Given the description of an element on the screen output the (x, y) to click on. 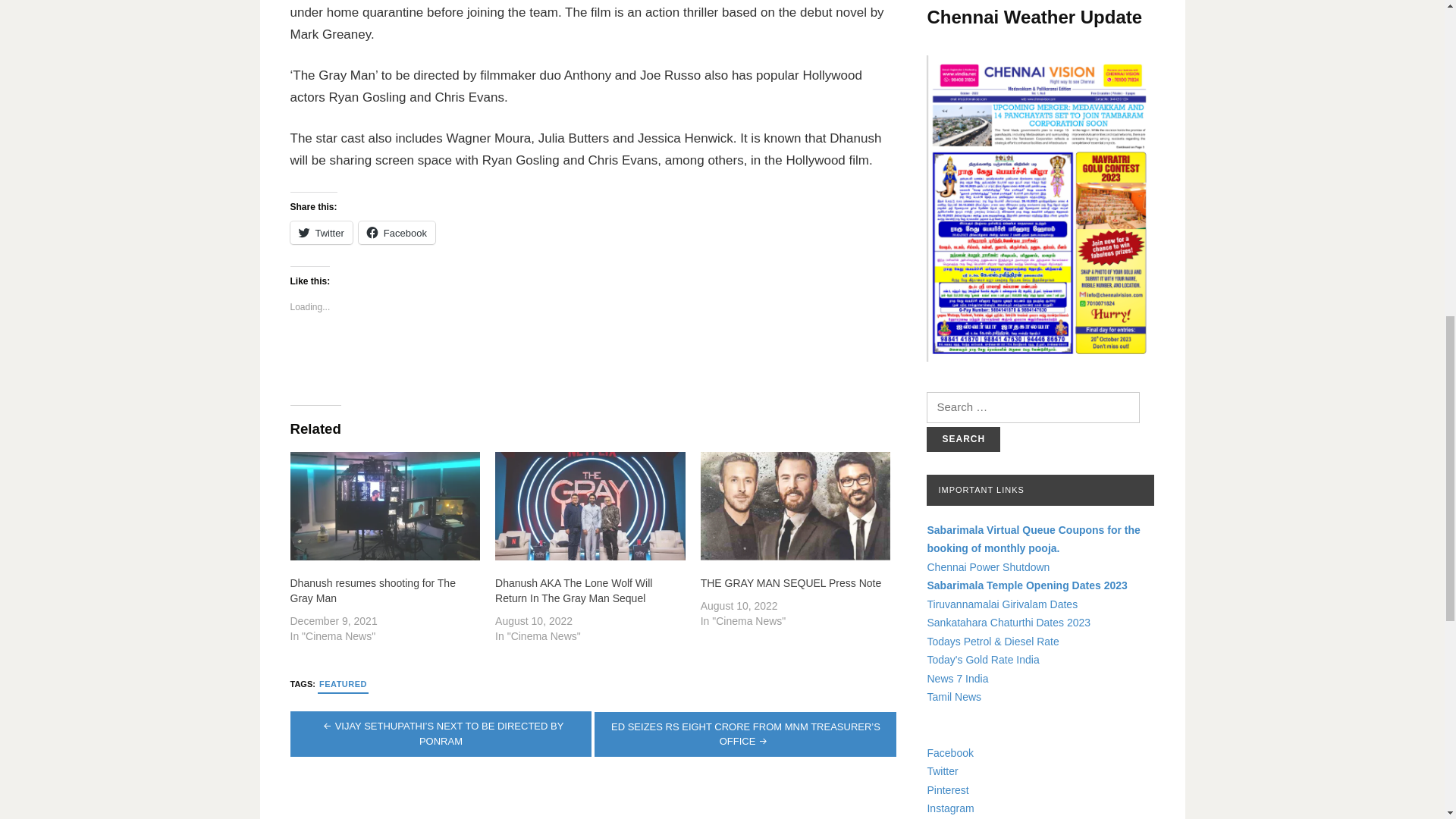
Dhanush resumes shooting for The Gray Man (384, 506)
Click to share on Twitter (320, 232)
Chennaivision Epaper (1040, 208)
Dhanush AKA The Lone Wolf Will Return In The Gray Man Sequel (590, 506)
THE GRAY MAN SEQUEL Press Note (791, 582)
THE GRAY MAN SEQUEL Press Note (795, 506)
Dhanush AKA The Lone Wolf Will Return In The Gray Man Sequel (573, 590)
Like or Reblog (592, 358)
Search (963, 439)
Dhanush resumes shooting for The Gray Man (371, 590)
Click to share on Facebook (396, 232)
Search (963, 439)
